Given the description of an element on the screen output the (x, y) to click on. 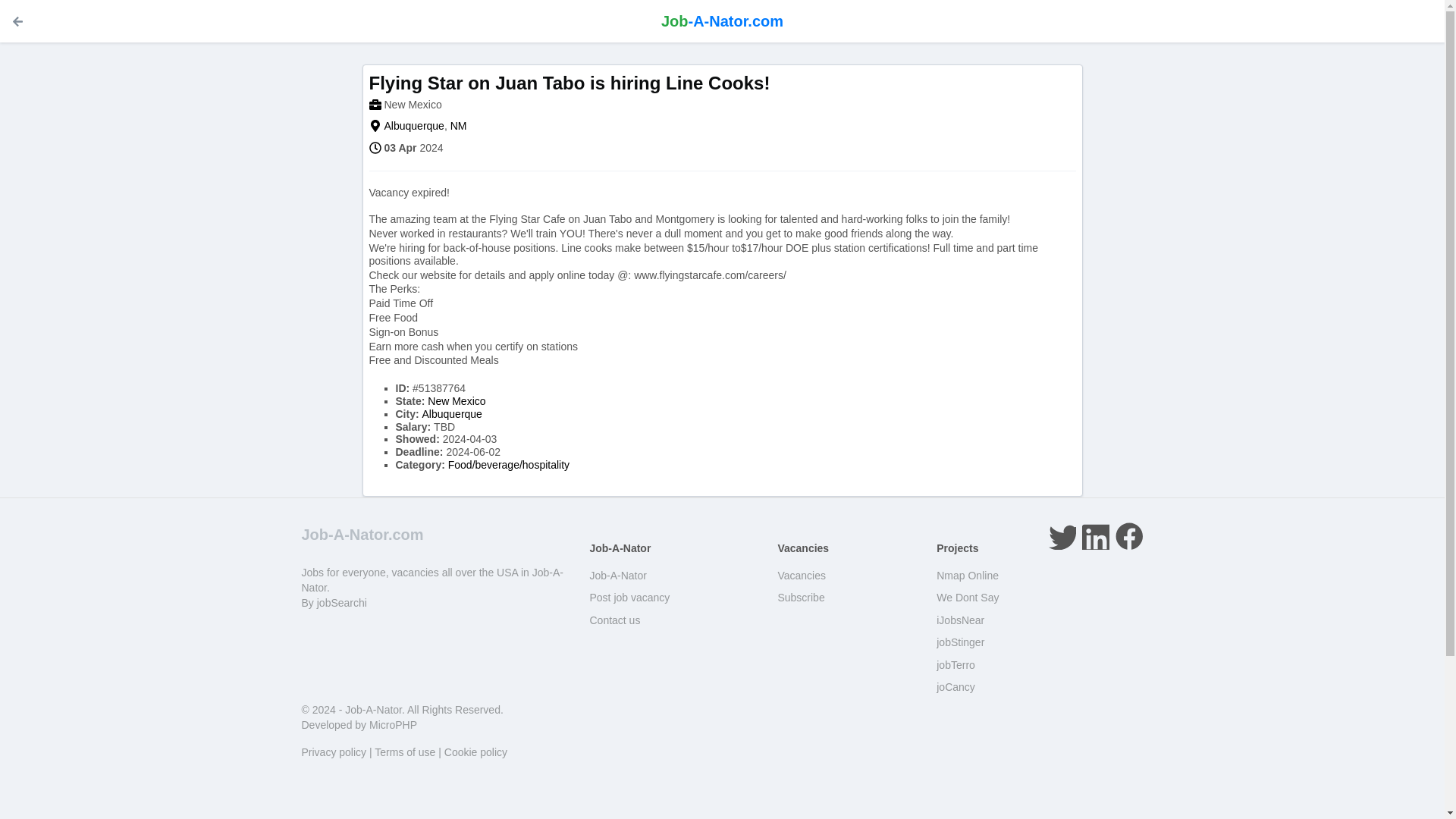
wedontsay.com (967, 597)
Albuquerque (451, 413)
ijobsnear.com (960, 620)
Contact us (614, 620)
Subscribe (800, 597)
Vacancies (801, 575)
Cookie policy (475, 752)
joCancy (955, 686)
iJobsNear (960, 620)
New Mexico (412, 104)
Albuquerque (451, 413)
Vacancies (801, 575)
Terms of use (404, 752)
New Mexico (456, 400)
Job-A-Nator.com (362, 534)
